Given the description of an element on the screen output the (x, y) to click on. 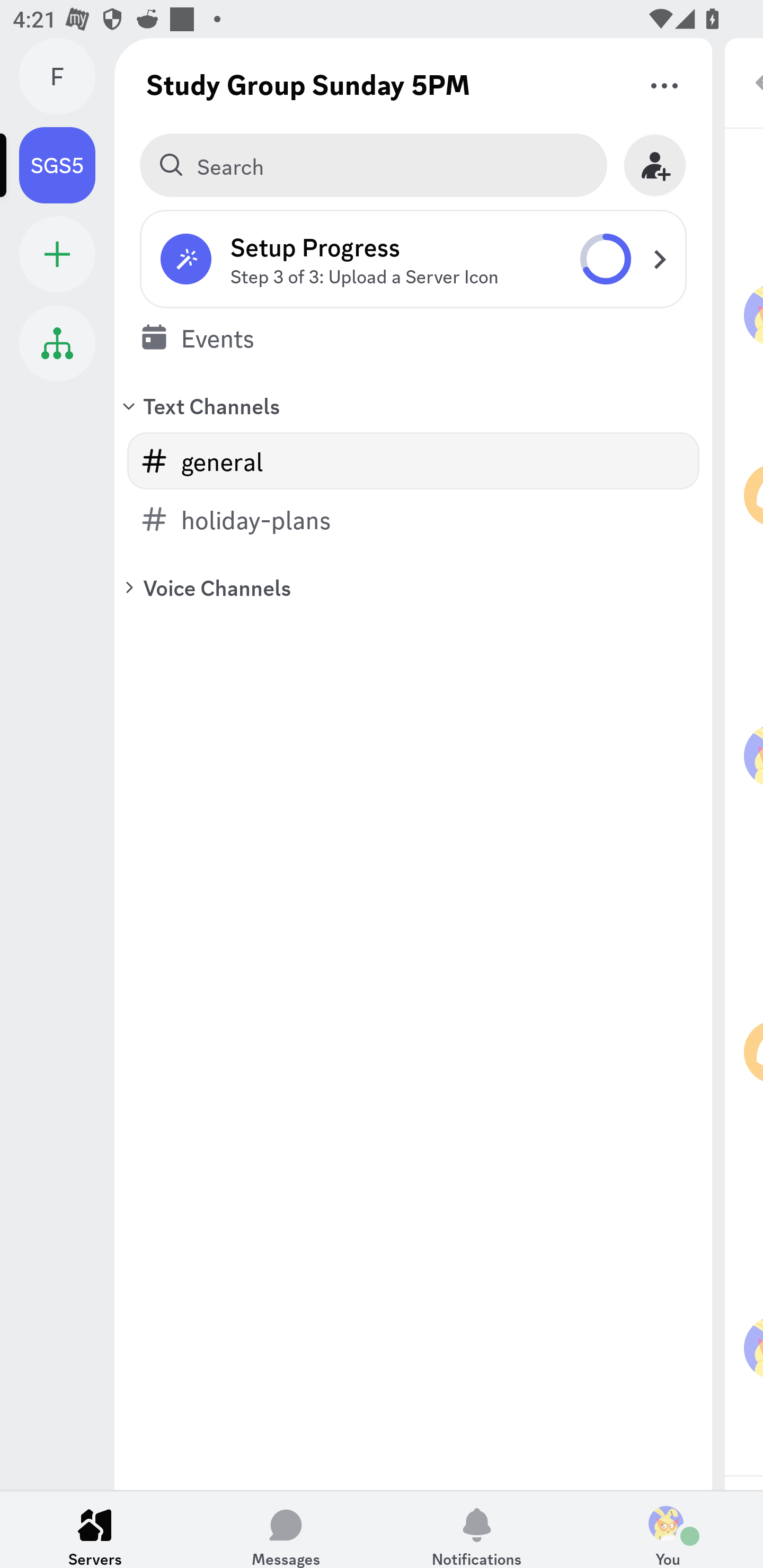
  Friends F (66, 75)
Study Group Sunday 5PM (308, 83)
  Study Group Sunday 5PM SGS5 (66, 165)
Search (373, 165)
Invite (654, 165)
Add a Server (57, 253)
Student Hub (57, 343)
Events (413, 336)
Text Channels (412, 404)
general (text channel) general (413, 460)
holiday-plans (text channel) holiday-plans (413, 518)
Voice Channels (412, 586)
Servers (95, 1529)
Messages (285, 1529)
Notifications (476, 1529)
You (667, 1529)
